Given the description of an element on the screen output the (x, y) to click on. 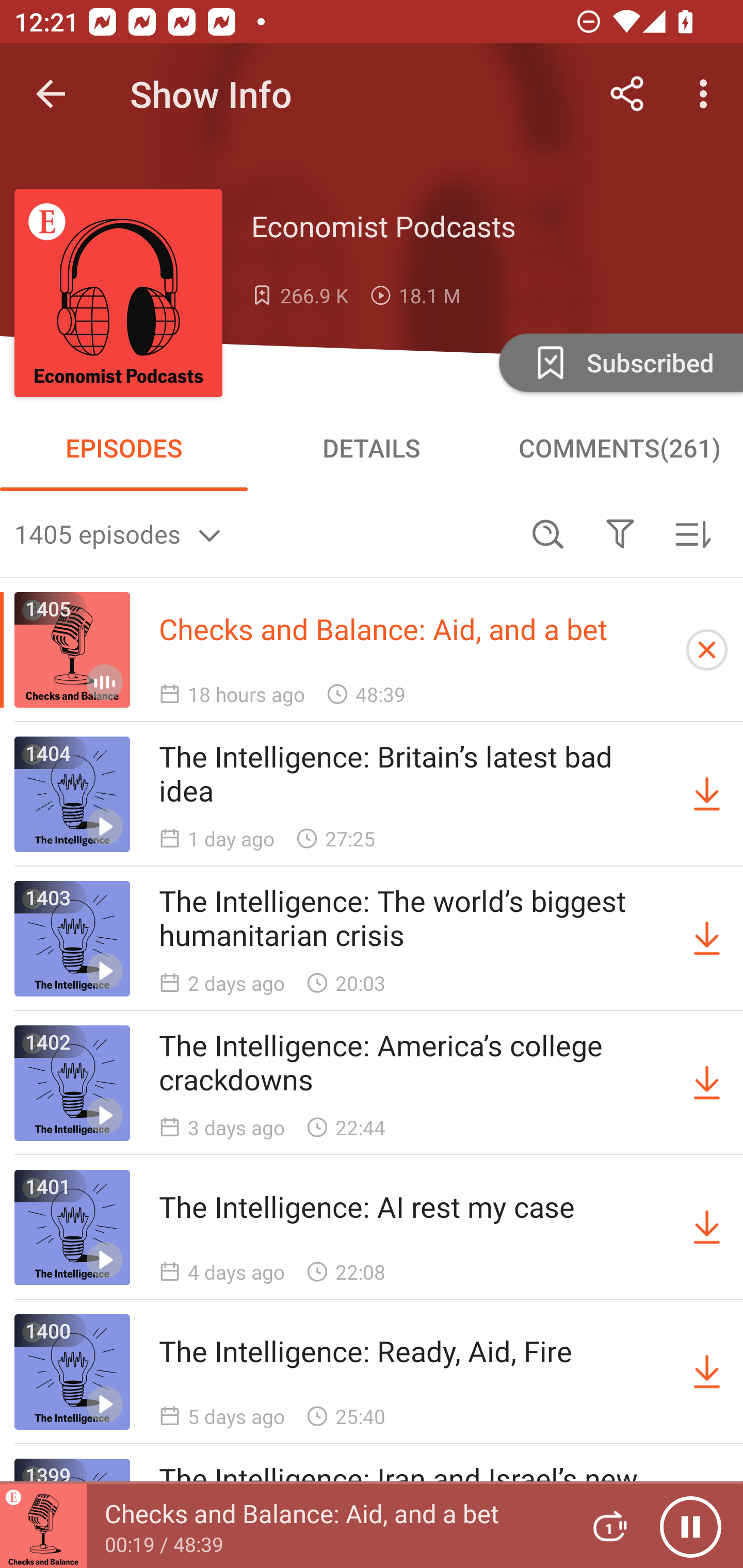
Navigate up (50, 93)
Share (626, 93)
More options (706, 93)
Unsubscribe Subscribed (619, 361)
EPISODES (123, 447)
DETAILS (371, 447)
COMMENTS(261) (619, 447)
1405 episodes  (262, 533)
 Search (547, 533)
 (619, 533)
 Sorted by newest first (692, 533)
Cancel Downloading (706, 649)
Download (706, 793)
Download (706, 939)
Download (706, 1083)
Download (706, 1227)
Download (706, 1371)
Checks and Balance: Aid, and a bet 00:19 / 48:39 (283, 1525)
Pause (690, 1526)
